Given the description of an element on the screen output the (x, y) to click on. 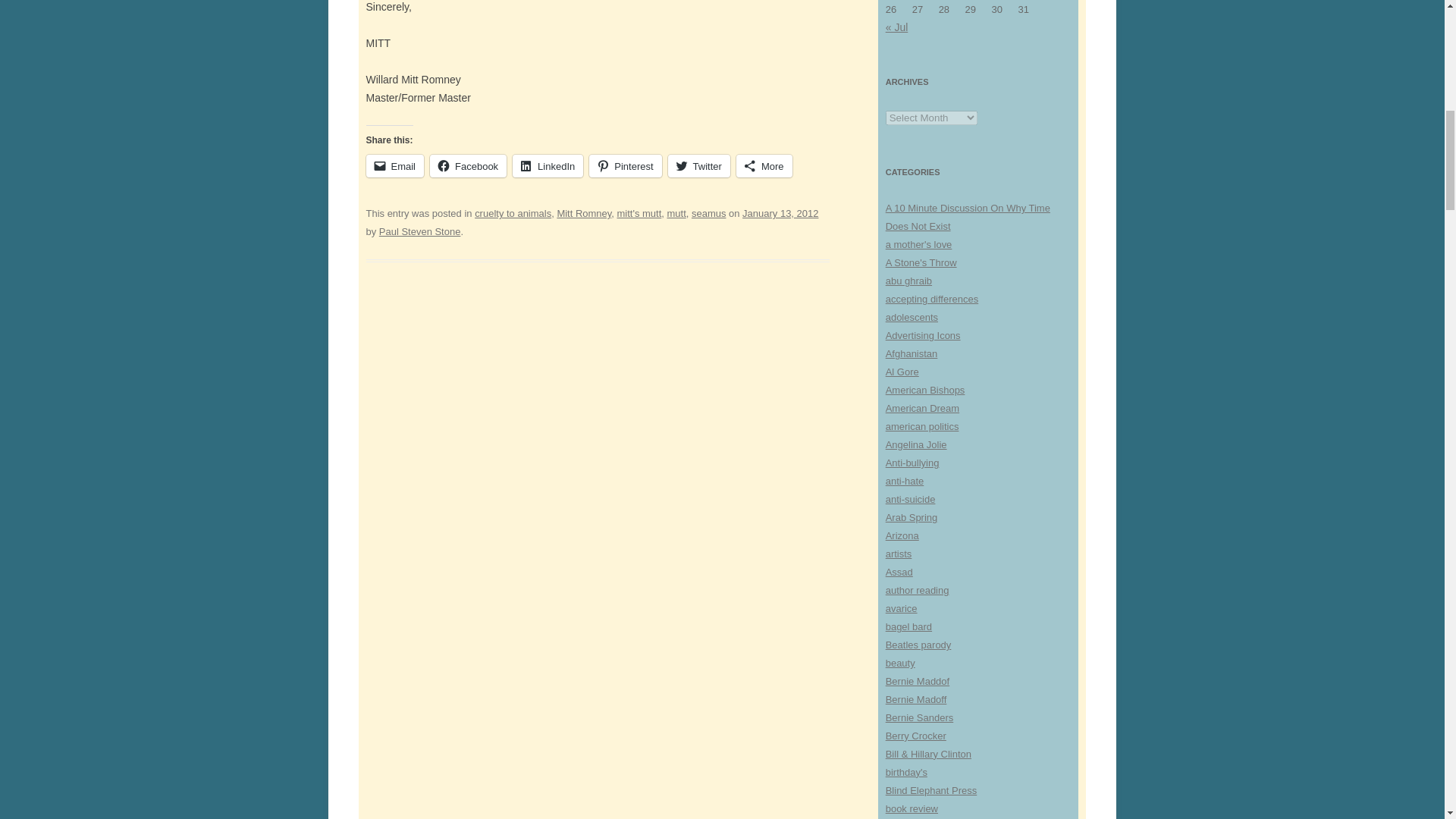
A Stone's Throw (920, 262)
4:00 pm (780, 213)
Twitter (699, 165)
Pinterest (625, 165)
abu ghraib (908, 280)
January 13, 2012 (780, 213)
Click to email a link to a friend (394, 165)
mutt (675, 213)
Click to share on Twitter (699, 165)
LinkedIn (547, 165)
Click to share on LinkedIn (547, 165)
mitt's mutt (639, 213)
Email (394, 165)
cruelty to animals (512, 213)
A 10 Minute Discussion On Why Time Does Not Exist (967, 216)
